Given the description of an element on the screen output the (x, y) to click on. 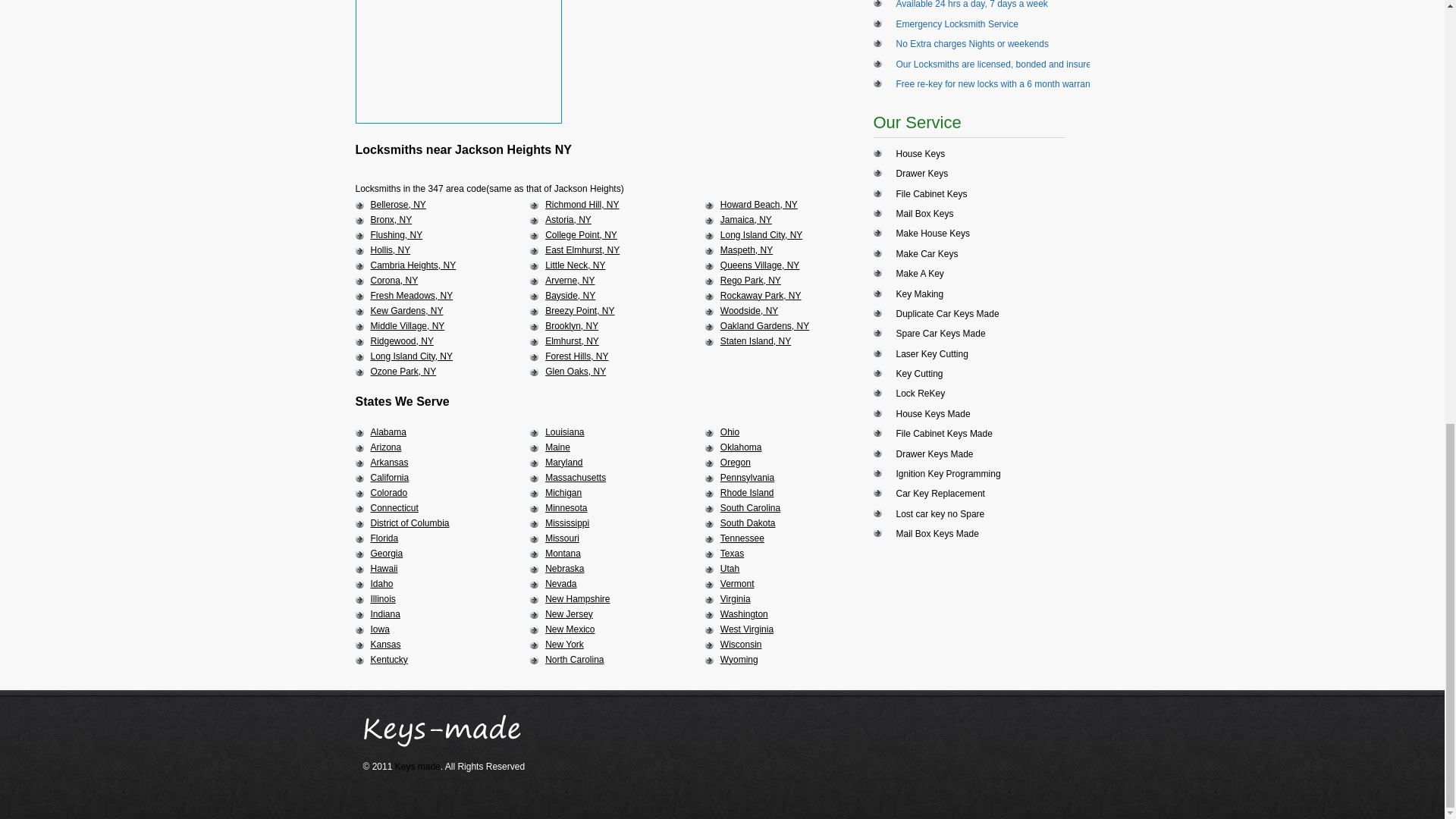
Ozone Park, NY (402, 371)
Cambria Heights, NY (412, 265)
Hollis, NY (389, 249)
Middle Village, NY (406, 326)
Howard Beach, NY (758, 204)
Kew Gardens, NY (405, 310)
Long Island City, NY (410, 356)
Brooklyn, NY (571, 326)
Glen Oaks, NY (574, 371)
